Given the description of an element on the screen output the (x, y) to click on. 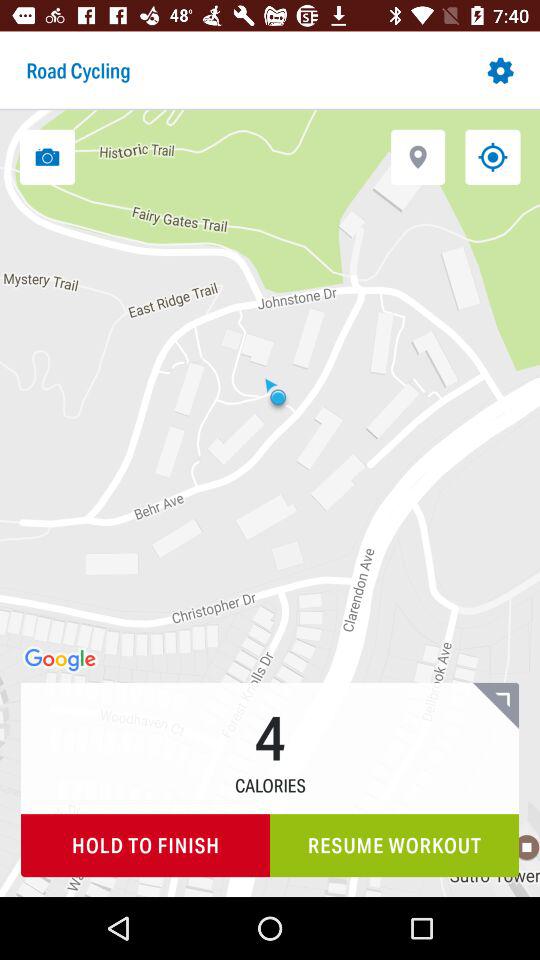
click icon above the resume workout (495, 705)
